Given the description of an element on the screen output the (x, y) to click on. 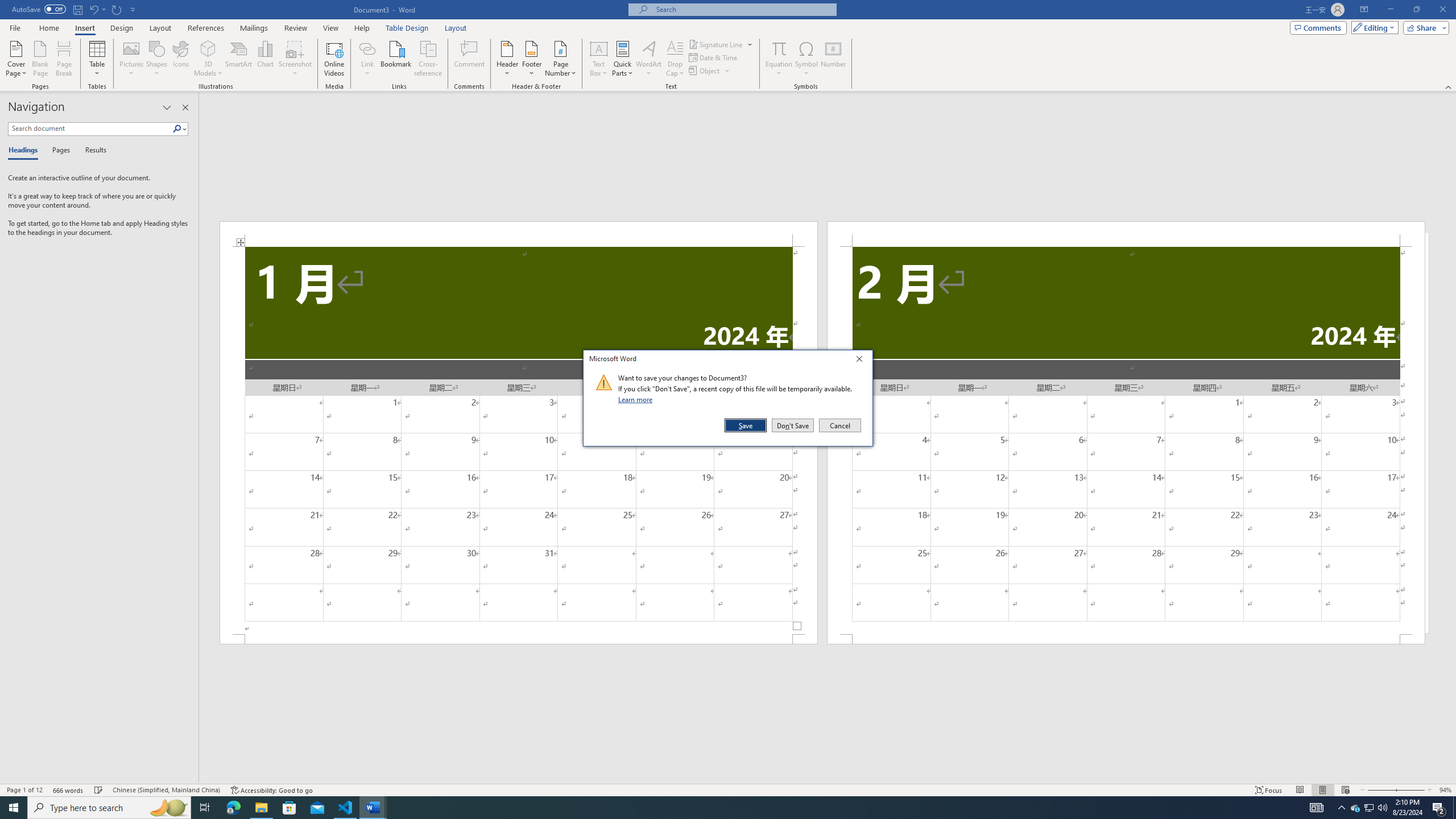
Online Videos... (333, 58)
Table (97, 58)
Learn more (636, 399)
WordArt (648, 58)
